Given the description of an element on the screen output the (x, y) to click on. 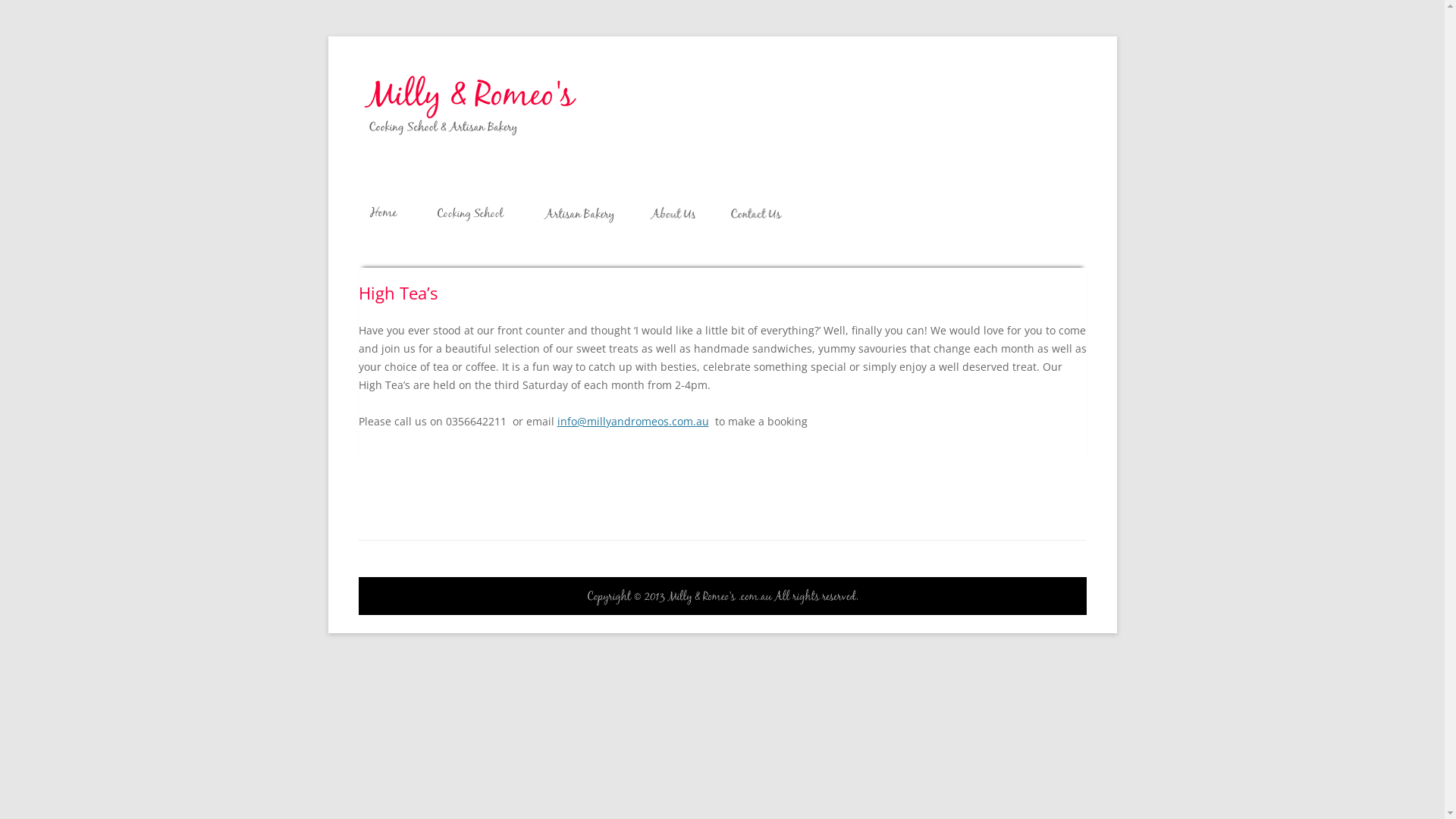
CONTACT US Element type: text (756, 212)
HOME Element type: text (383, 212)
info@millyandromeos.com.au Element type: text (632, 421)
GIFT VOUCHERS Element type: text (853, 212)
COOKING SCHOOL Element type: text (470, 212)
ARTISAN BAKERY Element type: text (578, 212)
ABOUT US Element type: text (671, 212)
Milly & Romeo's Element type: text (436, 72)
Skip to content Element type: text (717, 163)
